Given the description of an element on the screen output the (x, y) to click on. 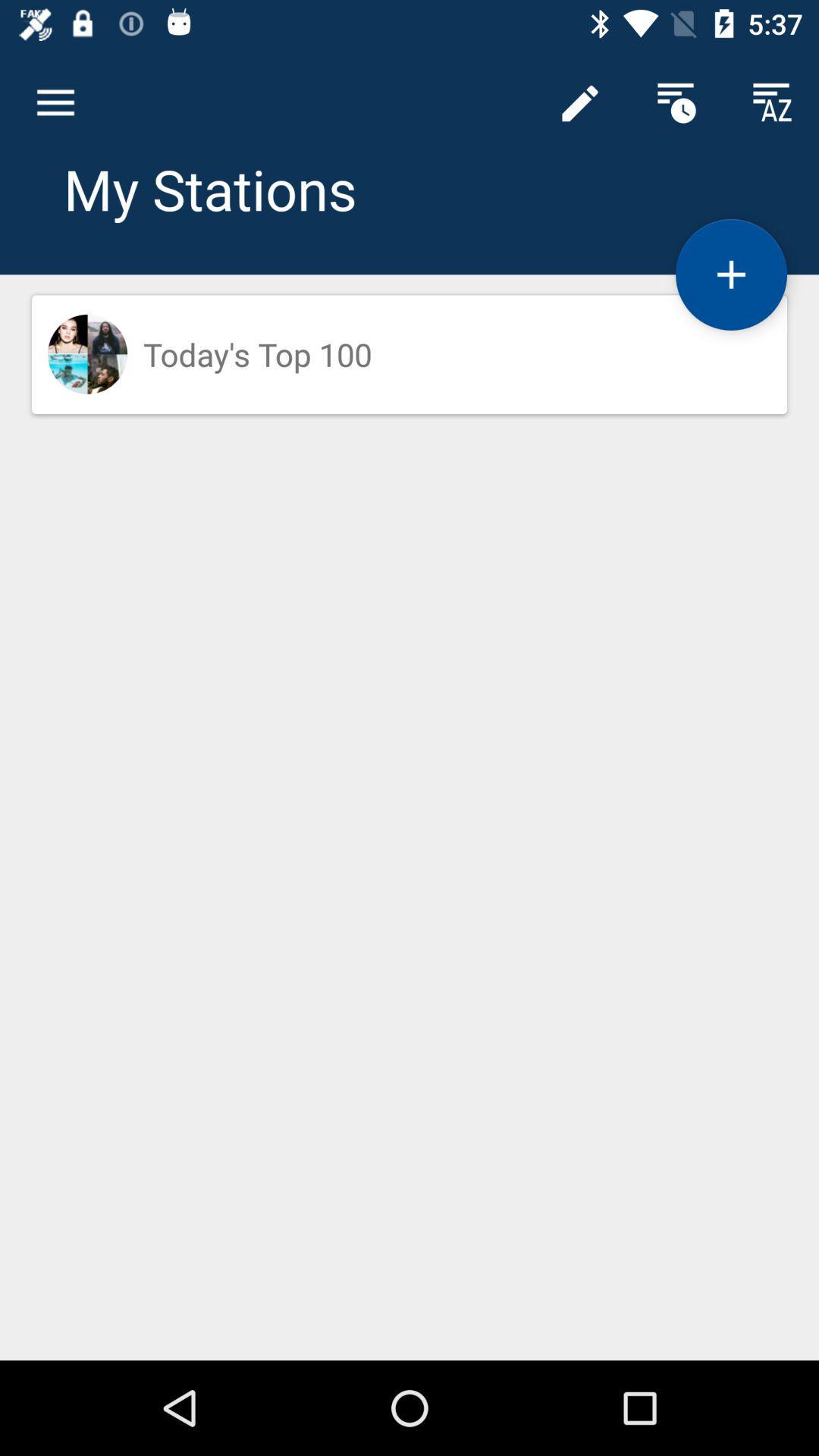
launch item above the today s top icon (731, 274)
